Given the description of an element on the screen output the (x, y) to click on. 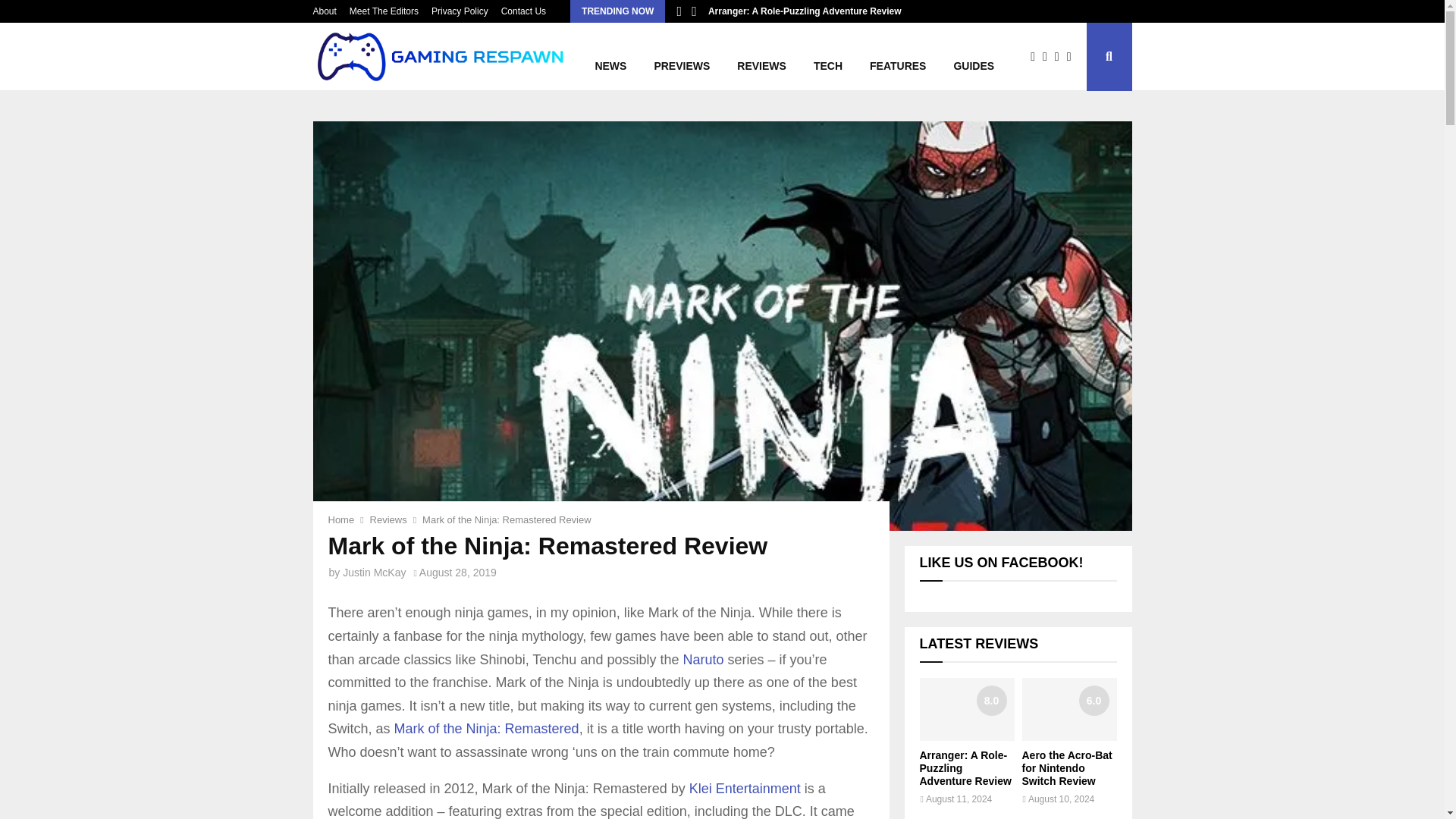
Contact Us (523, 11)
Arranger: A Role-Puzzling Adventure Review (804, 10)
FEATURES (897, 56)
REVIEWS (761, 56)
About (324, 11)
 Arranger: A Role-Puzzling Adventure Review  (964, 768)
GUIDES (973, 56)
Arranger: A Role-Puzzling Adventure Review (965, 709)
Aero the Acro-Bat for Nintendo Switch Review (1069, 709)
Like us on Facebook! (1000, 562)
